Given the description of an element on the screen output the (x, y) to click on. 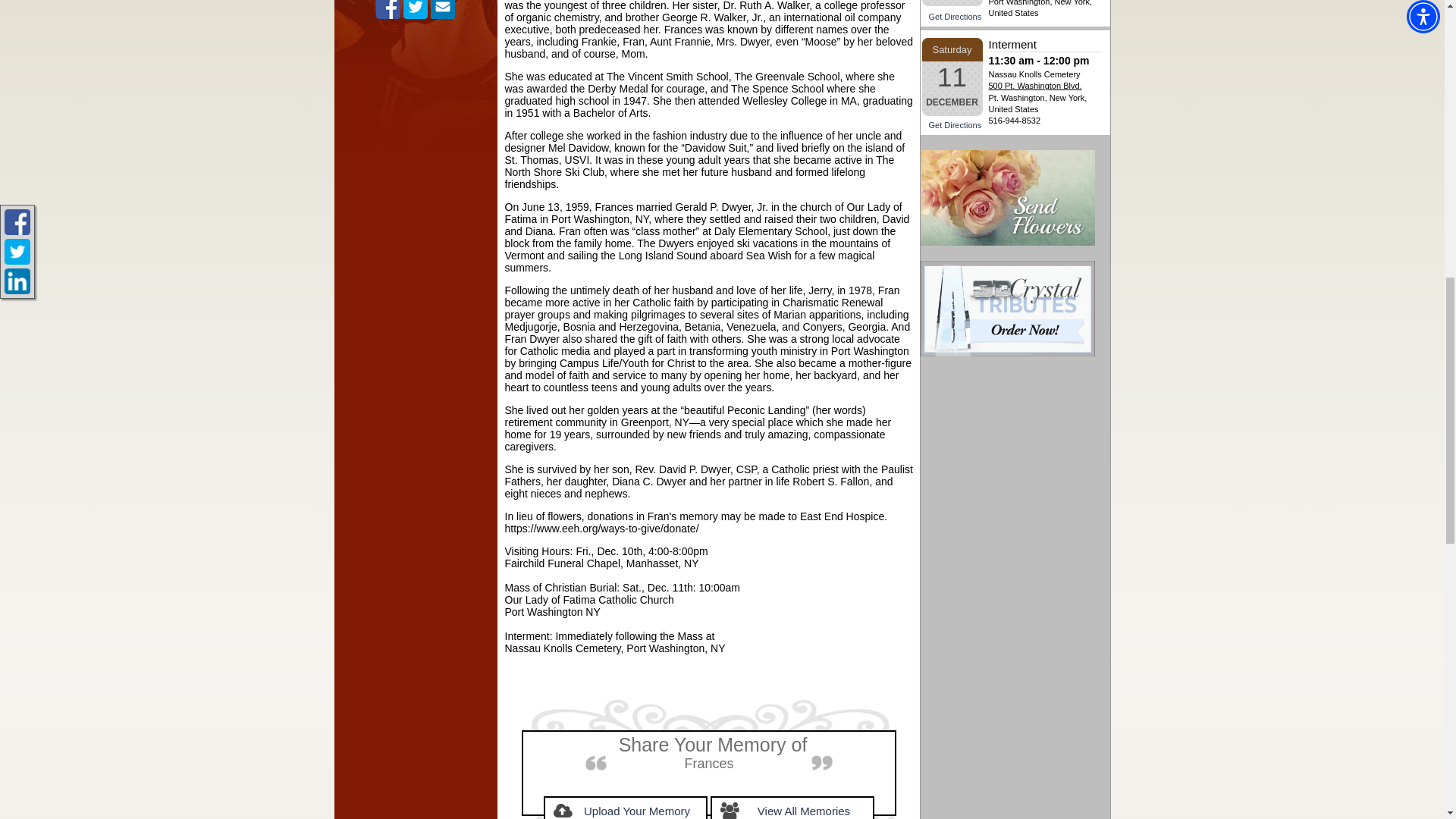
Facebook (387, 9)
Twitter (415, 9)
Get Directions (954, 124)
Send Flowers (1007, 197)
Receive Notifications (442, 9)
3D Crystal Tributes (1007, 308)
Get Directions (954, 16)
